Given the description of an element on the screen output the (x, y) to click on. 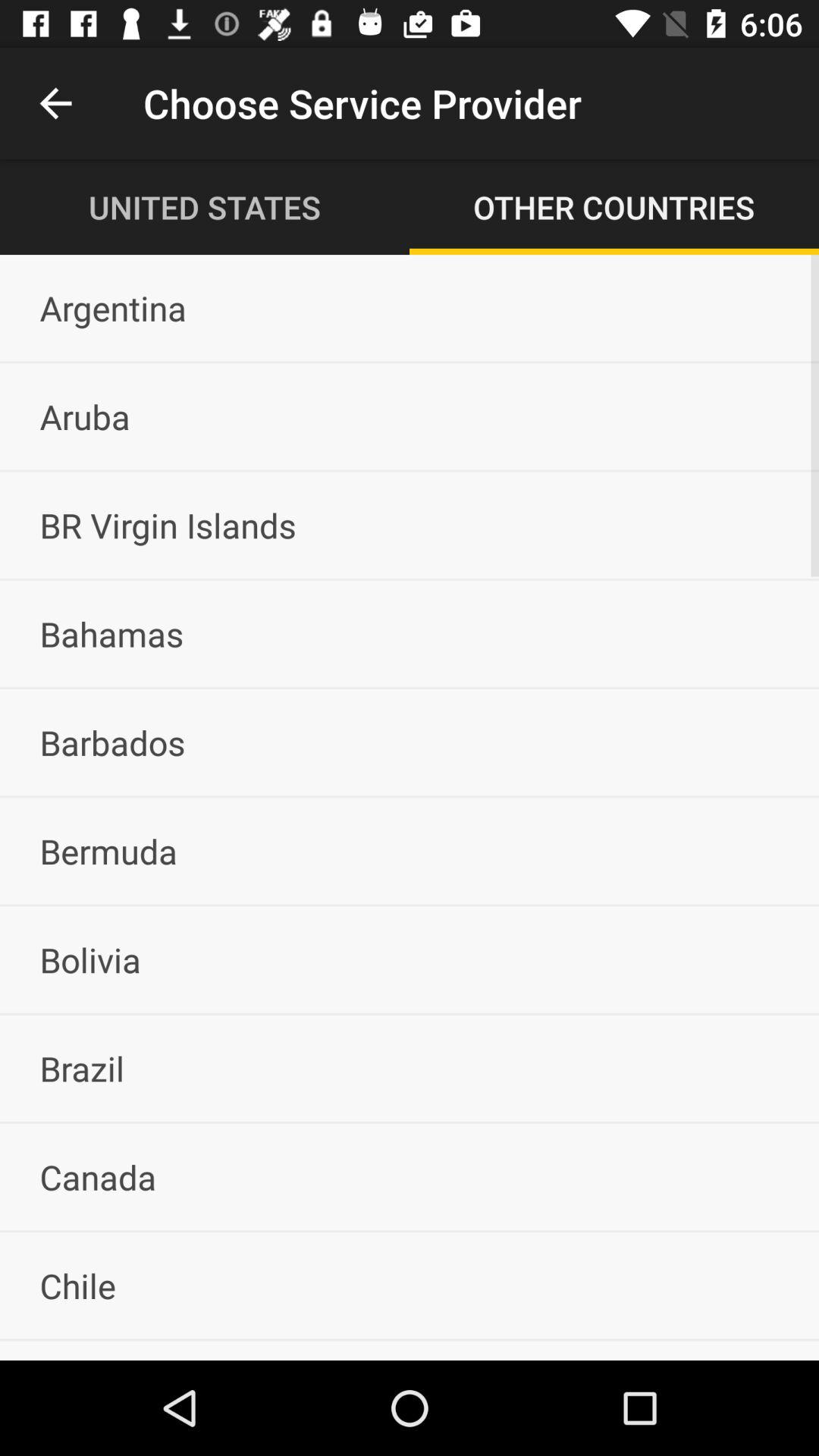
choose icon above chile icon (409, 1176)
